Given the description of an element on the screen output the (x, y) to click on. 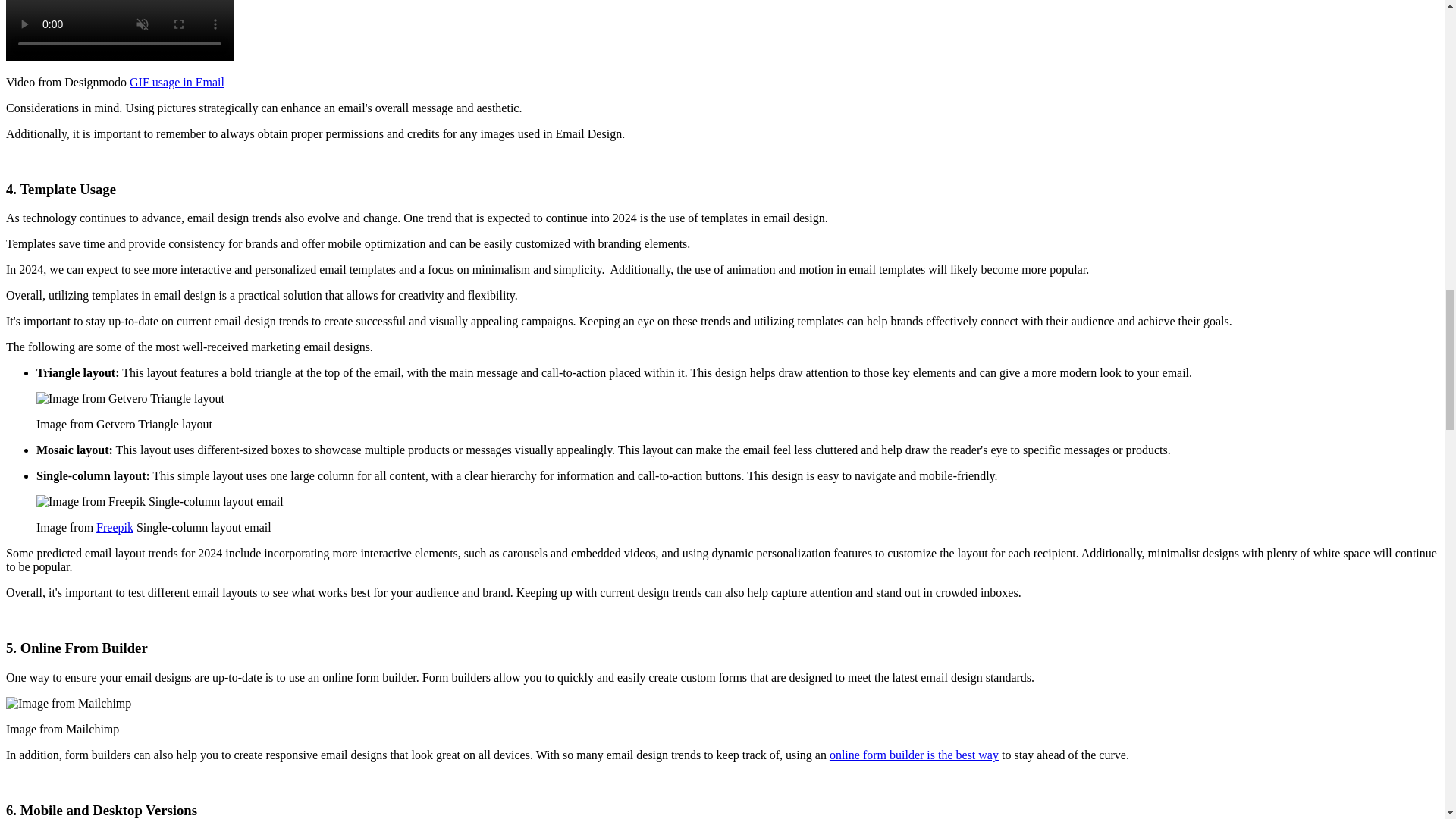
online form builder is the best way (913, 754)
GIF usage in Email (176, 82)
Freepik (114, 526)
